Given the description of an element on the screen output the (x, y) to click on. 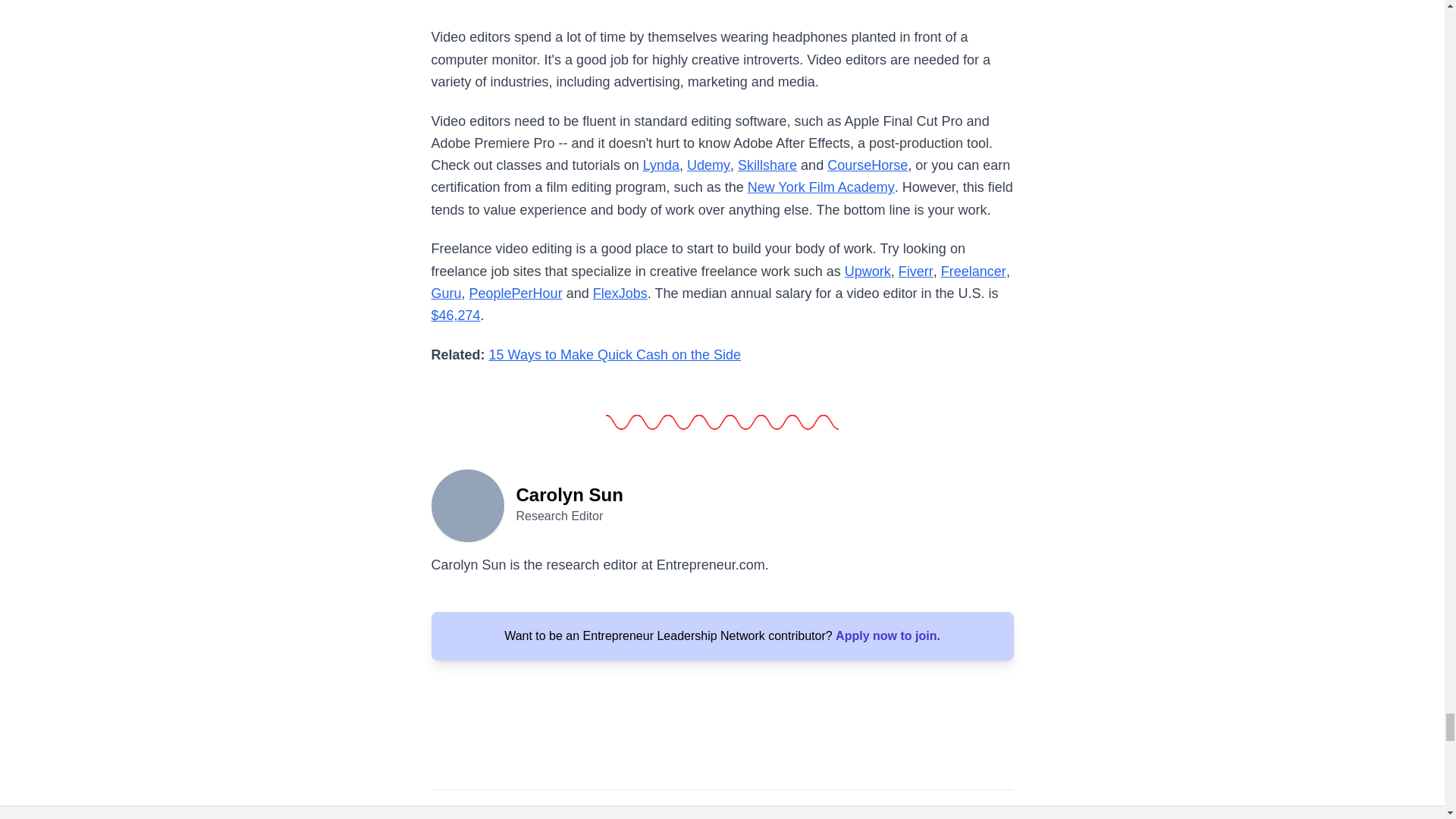
Carolyn Sun (466, 504)
